Given the description of an element on the screen output the (x, y) to click on. 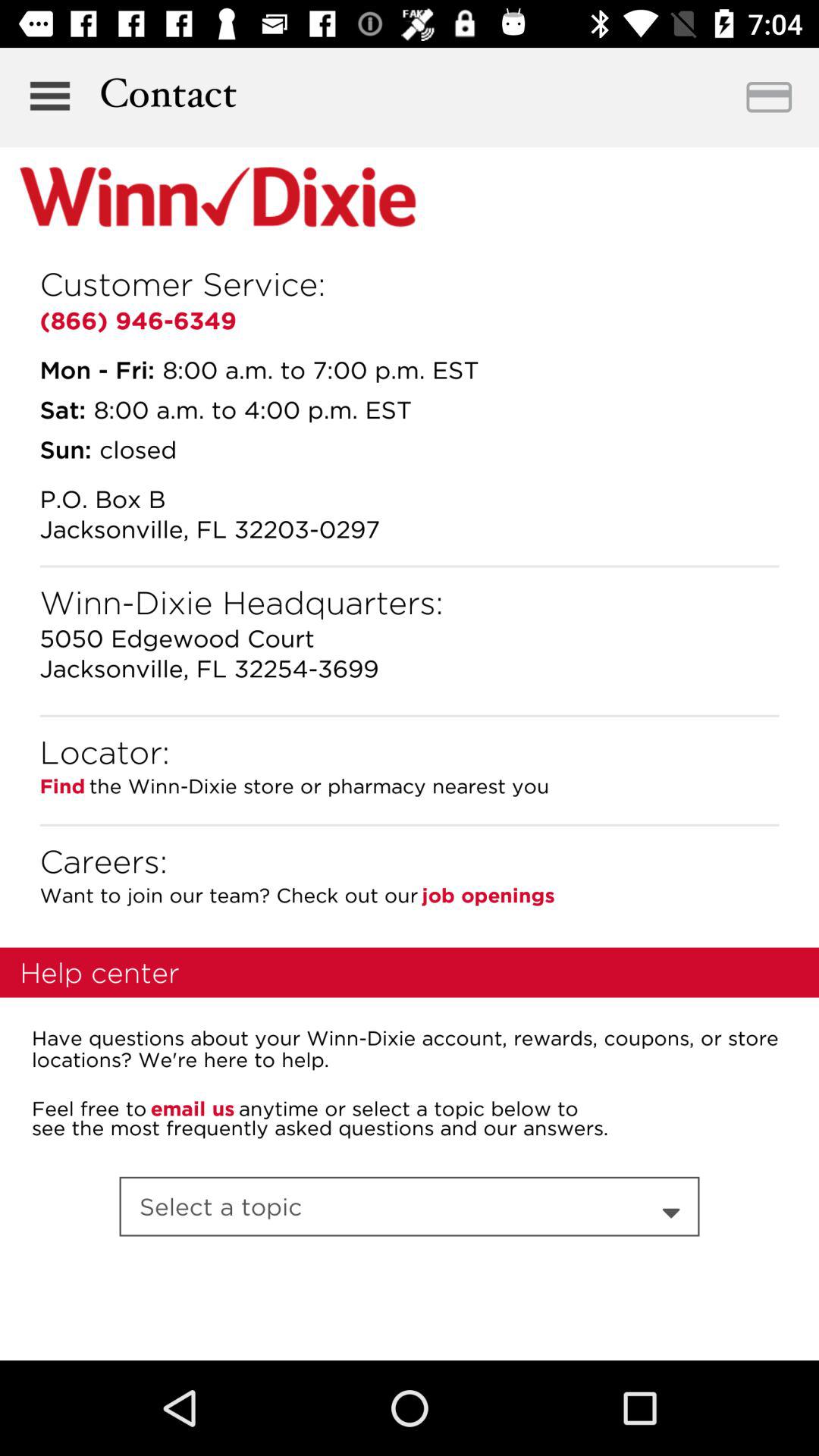
click icon above the careers: icon (409, 825)
